Given the description of an element on the screen output the (x, y) to click on. 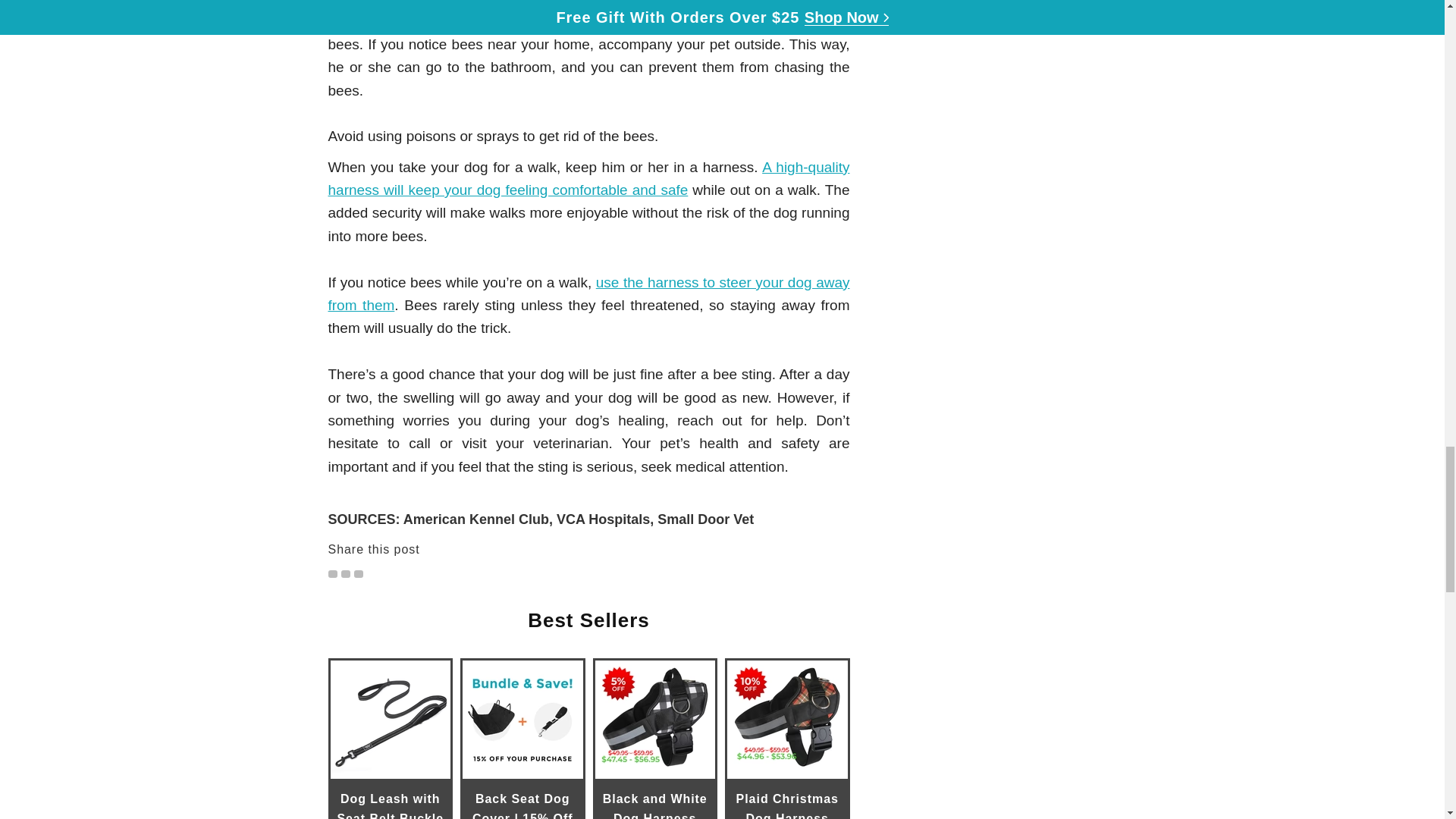
Pin on Pinterest (357, 574)
Tweet on Twitter (331, 574)
Share on Facebook (345, 574)
